Given the description of an element on the screen output the (x, y) to click on. 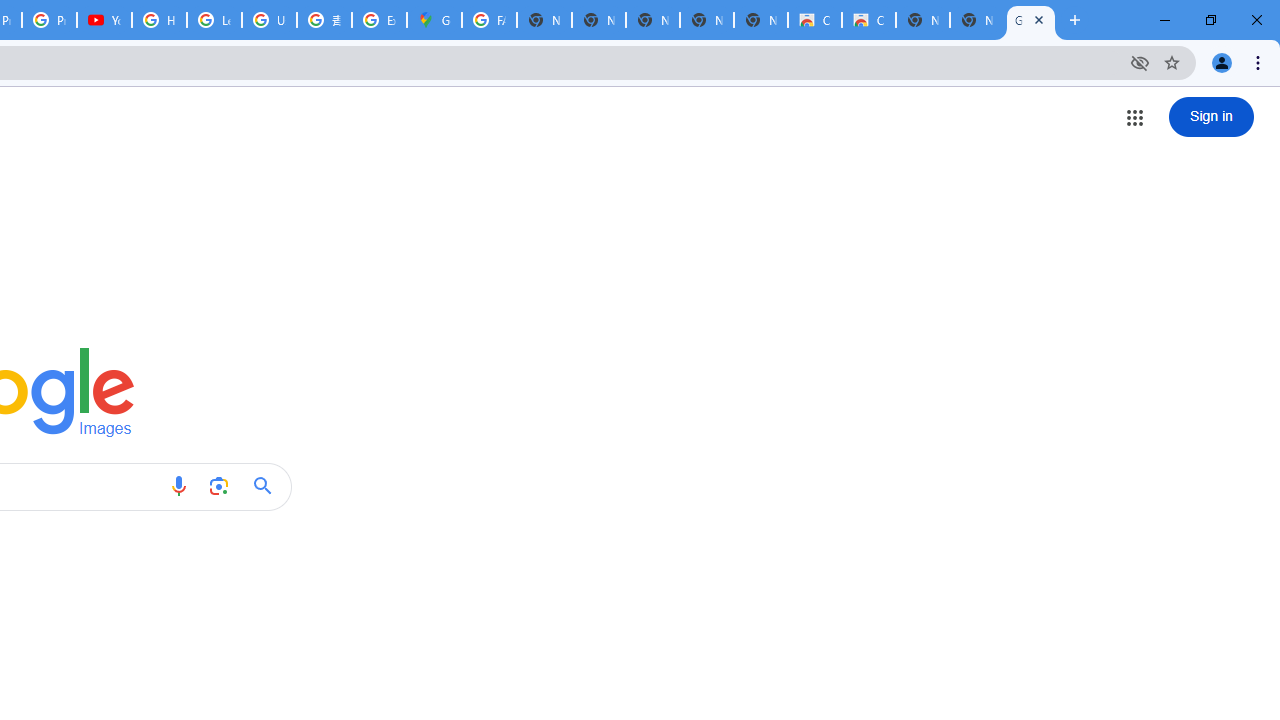
Privacy Checkup (48, 20)
Google Maps (434, 20)
New Tab (976, 20)
Google Images (1030, 20)
YouTube (103, 20)
Classic Blue - Chrome Web Store (868, 20)
